Given the description of an element on the screen output the (x, y) to click on. 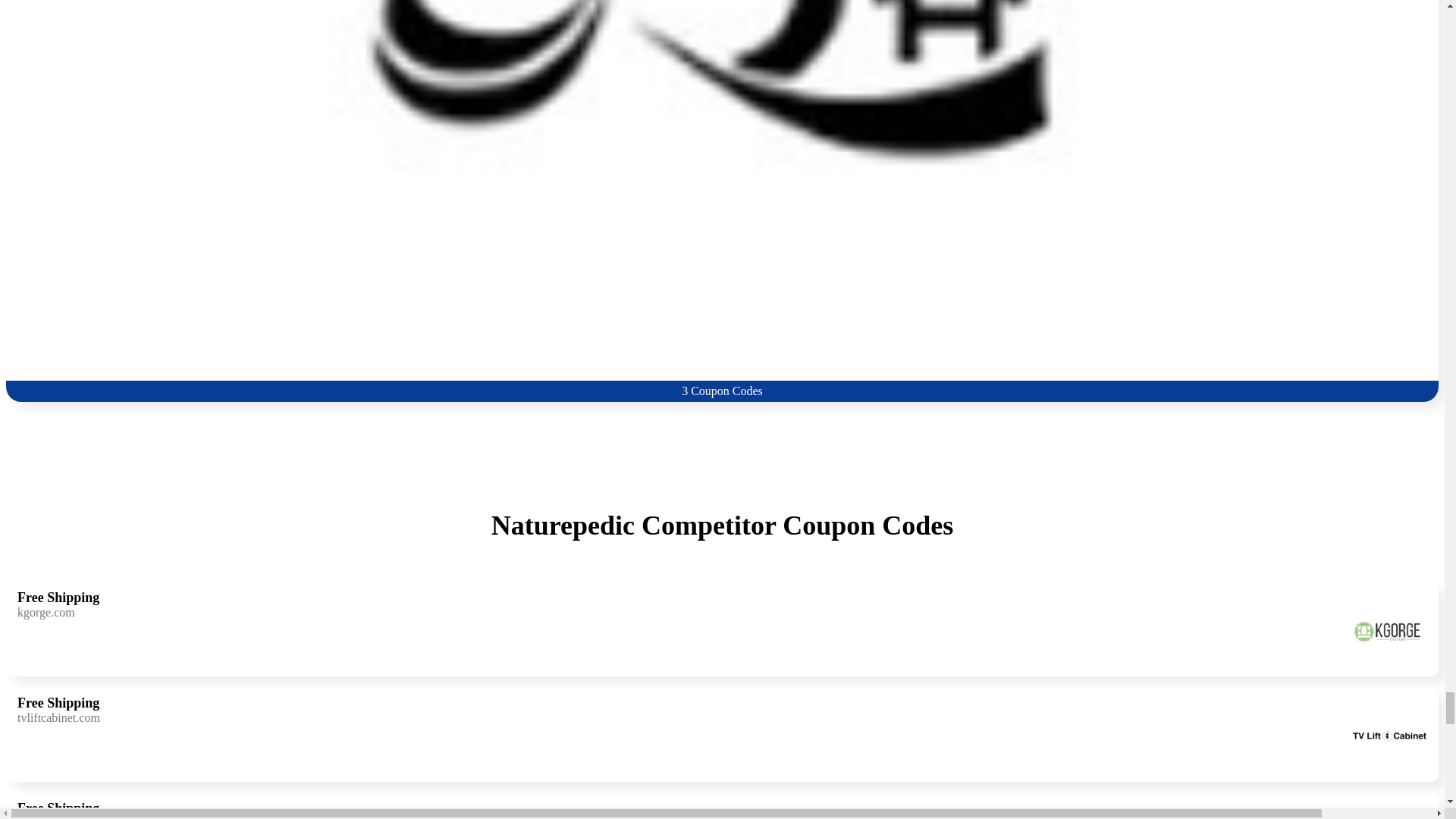
3 Coupon Codes (721, 806)
